Given the description of an element on the screen output the (x, y) to click on. 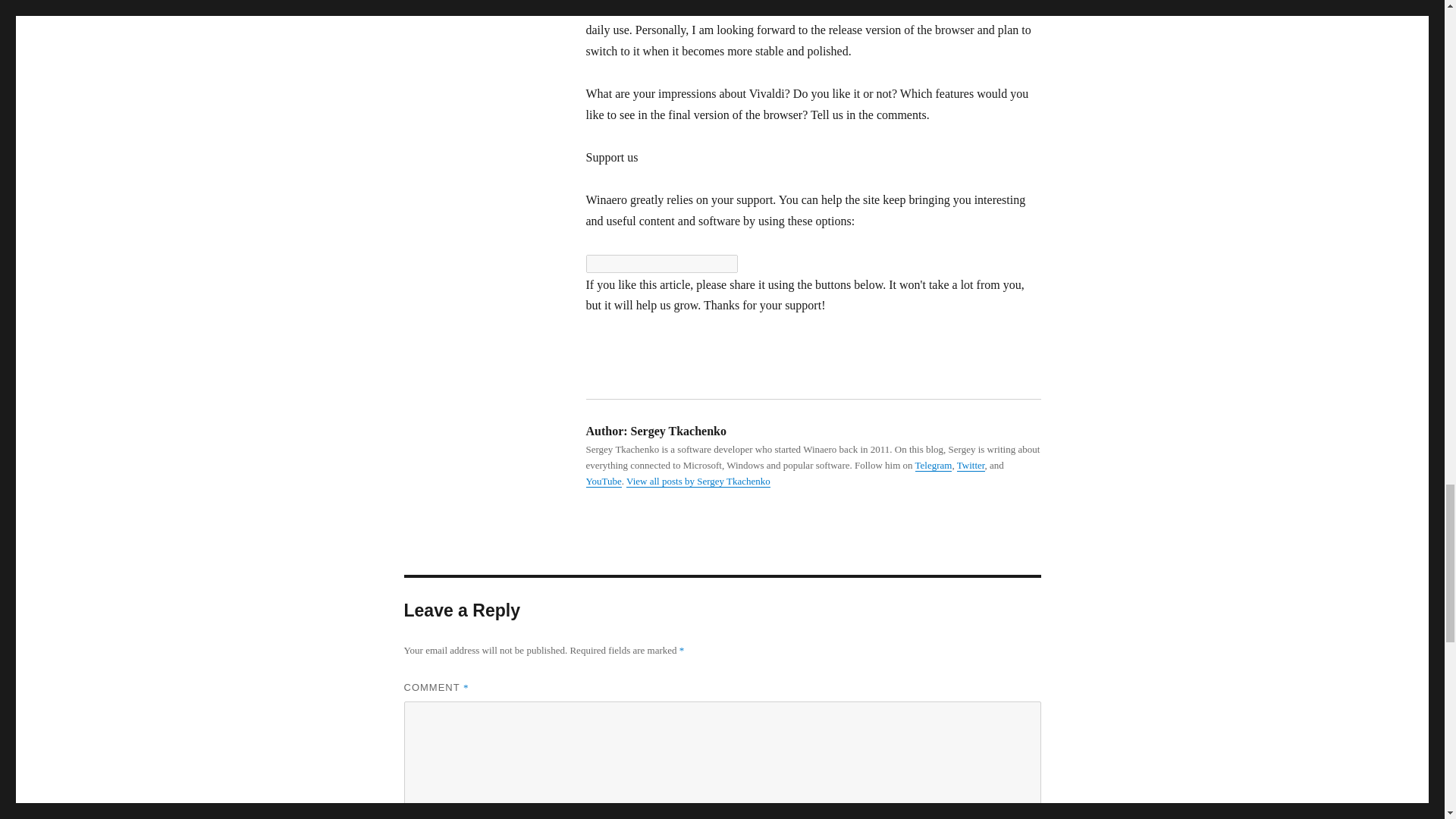
Twitter (970, 464)
View all posts by Sergey Tkachenko (698, 480)
YouTube (603, 480)
Telegram (933, 464)
